Given the description of an element on the screen output the (x, y) to click on. 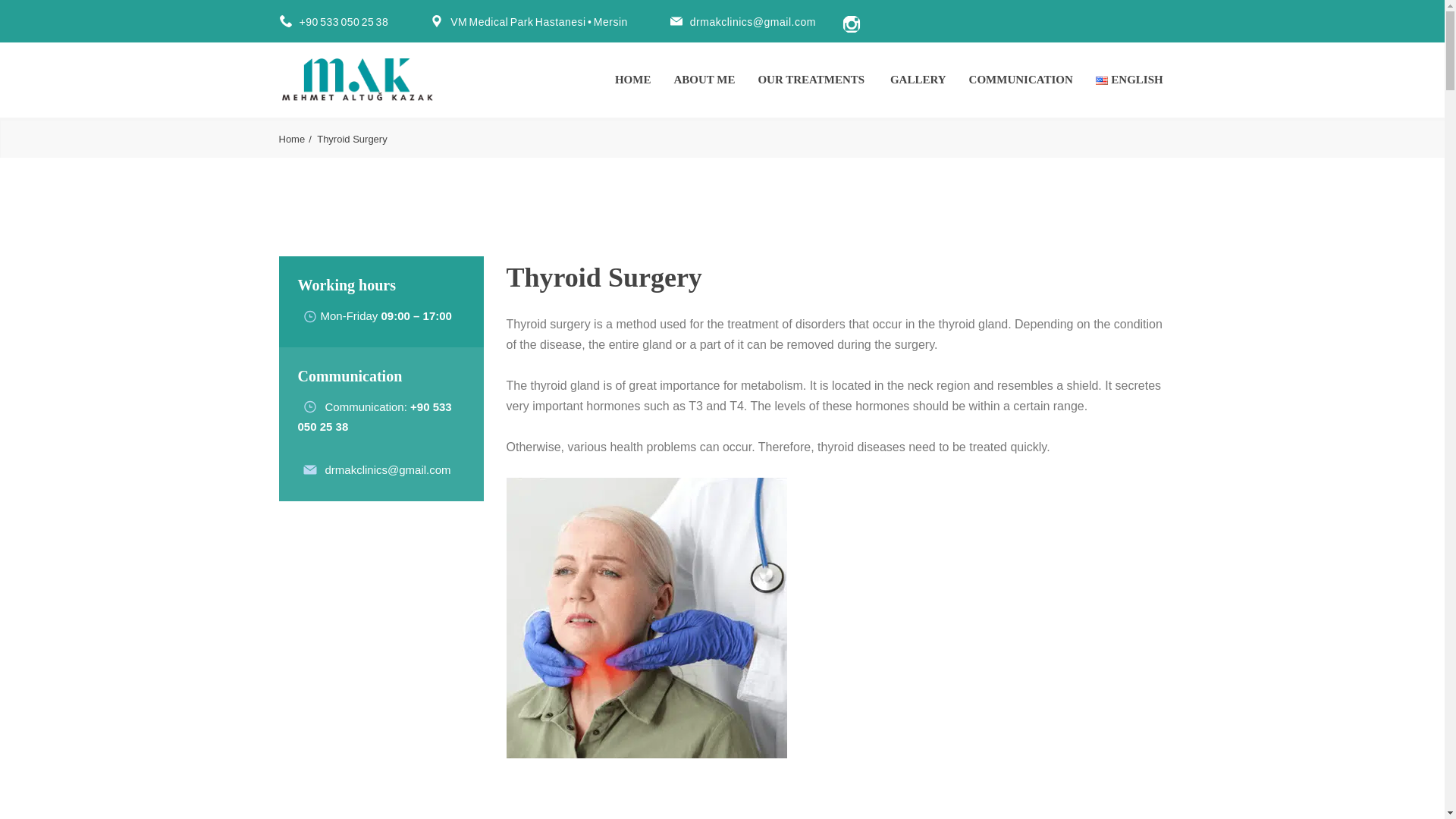
GALLERY (917, 79)
Home (296, 138)
Communication (363, 406)
HOME (632, 79)
COMMUNICATION (1021, 79)
Communication (363, 406)
OUR TREATMENTS (812, 79)
ENGLISH (1131, 79)
ABOUT ME (703, 79)
